Given the description of an element on the screen output the (x, y) to click on. 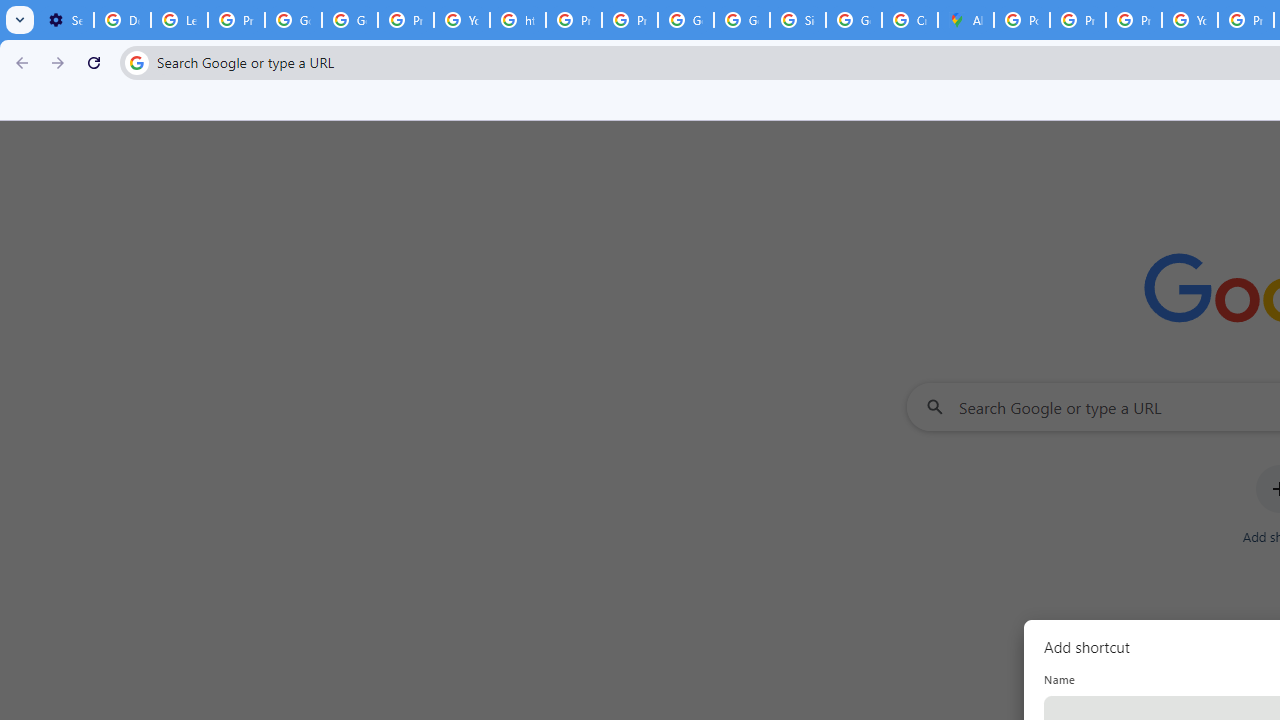
Privacy Help Center - Policies Help (1133, 20)
Policy Accountability and Transparency - Transparency Center (1021, 20)
Sign in - Google Accounts (797, 20)
Delete photos & videos - Computer - Google Photos Help (122, 20)
Google Account Help (349, 20)
Settings - On startup (65, 20)
YouTube (461, 20)
Create your Google Account (909, 20)
https://scholar.google.com/ (518, 20)
